Given the description of an element on the screen output the (x, y) to click on. 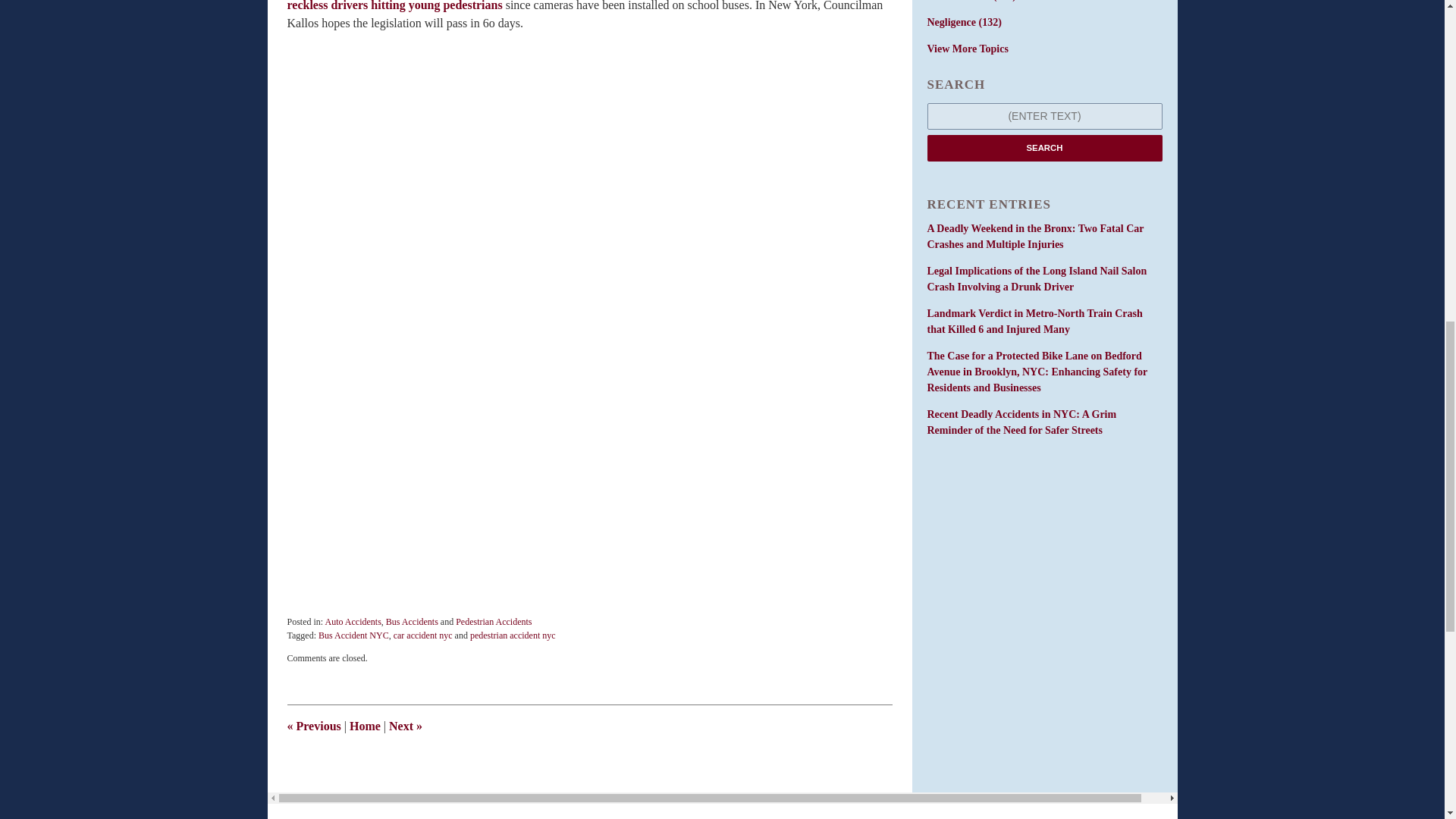
4 people injured in NYC Sanitation truck accident (405, 725)
View all posts tagged with pedestrian accident nyc (513, 634)
reckless drivers hitting young pedestrians (394, 5)
Bus Accident NYC (353, 634)
View all posts in Pedestrian Accidents (493, 621)
View all posts in Bus Accidents (411, 621)
View all posts tagged with car accident nyc (422, 634)
View all posts tagged with Bus Accident NYC (353, 634)
car accident nyc (422, 634)
Auto Accidents (352, 621)
Home (364, 725)
Bus Accidents (411, 621)
Pedestrian Accidents (493, 621)
View all posts in Auto Accidents (352, 621)
